Given the description of an element on the screen output the (x, y) to click on. 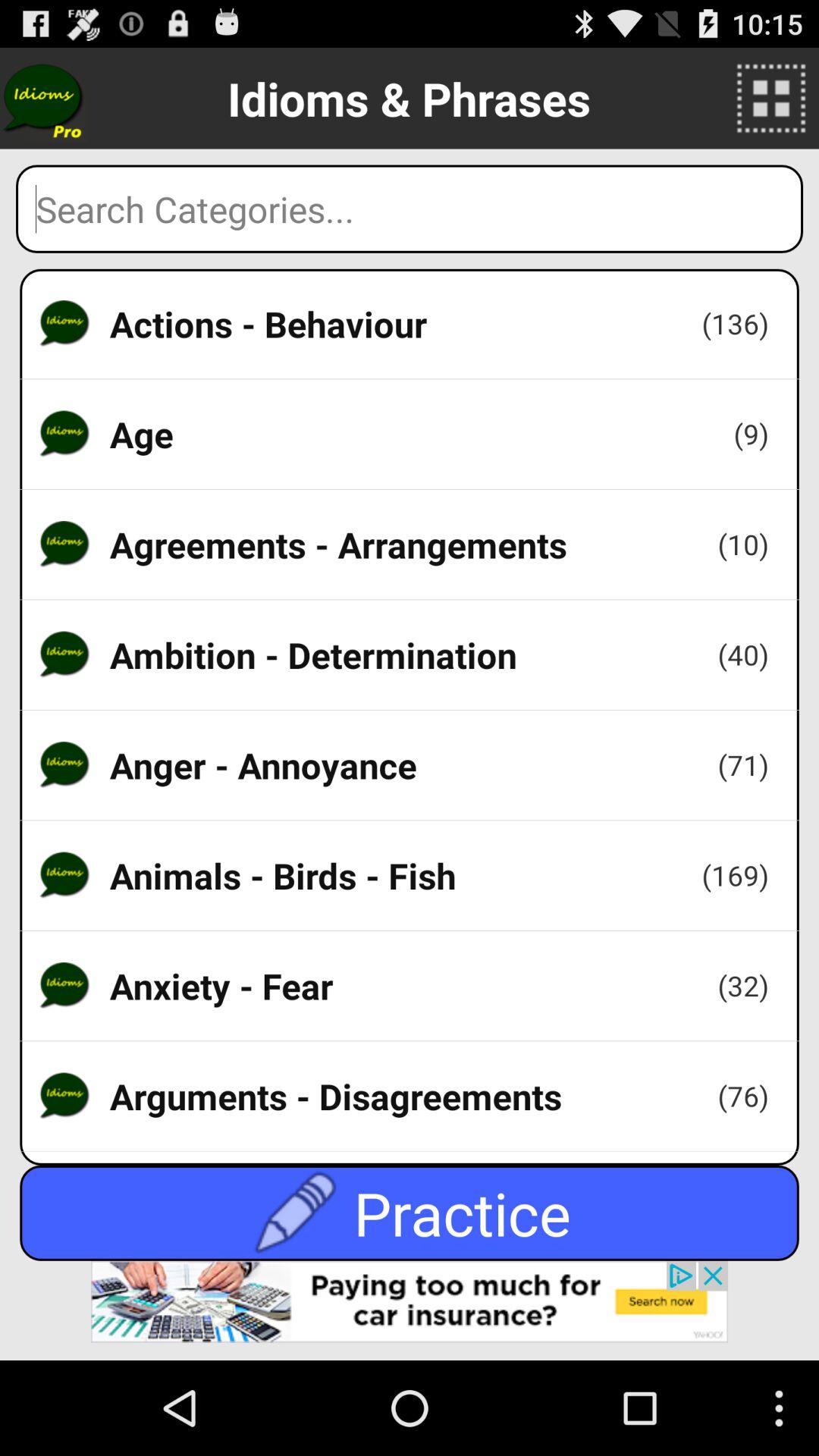
advertisement page (409, 1310)
